Given the description of an element on the screen output the (x, y) to click on. 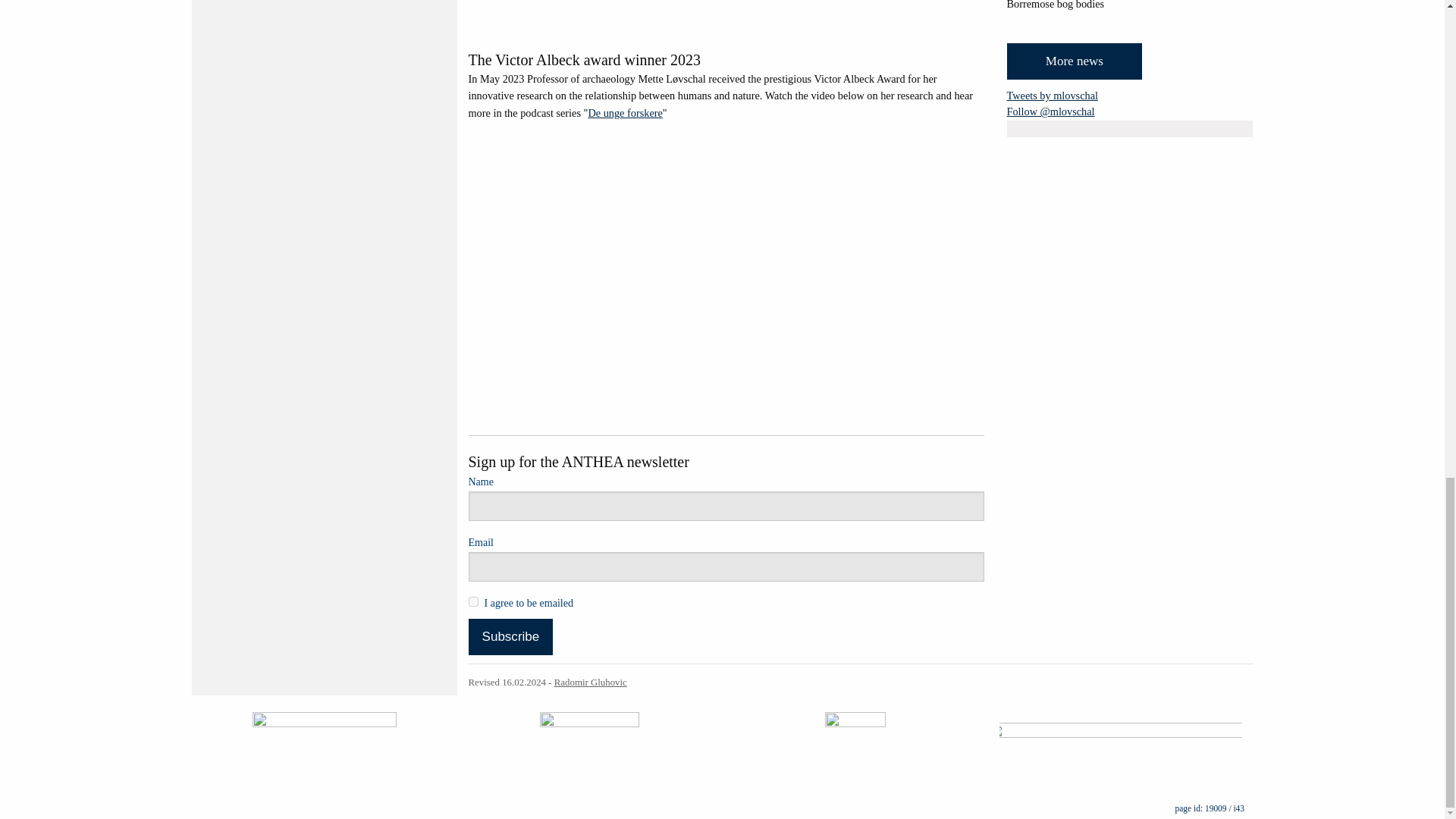
Radomir Gluhovic (590, 682)
Tweets by mlovschal (1053, 95)
Subscribe (510, 637)
De unge forskere (625, 112)
YouTube video player (722, 14)
on (473, 601)
More news (1074, 61)
